Given the description of an element on the screen output the (x, y) to click on. 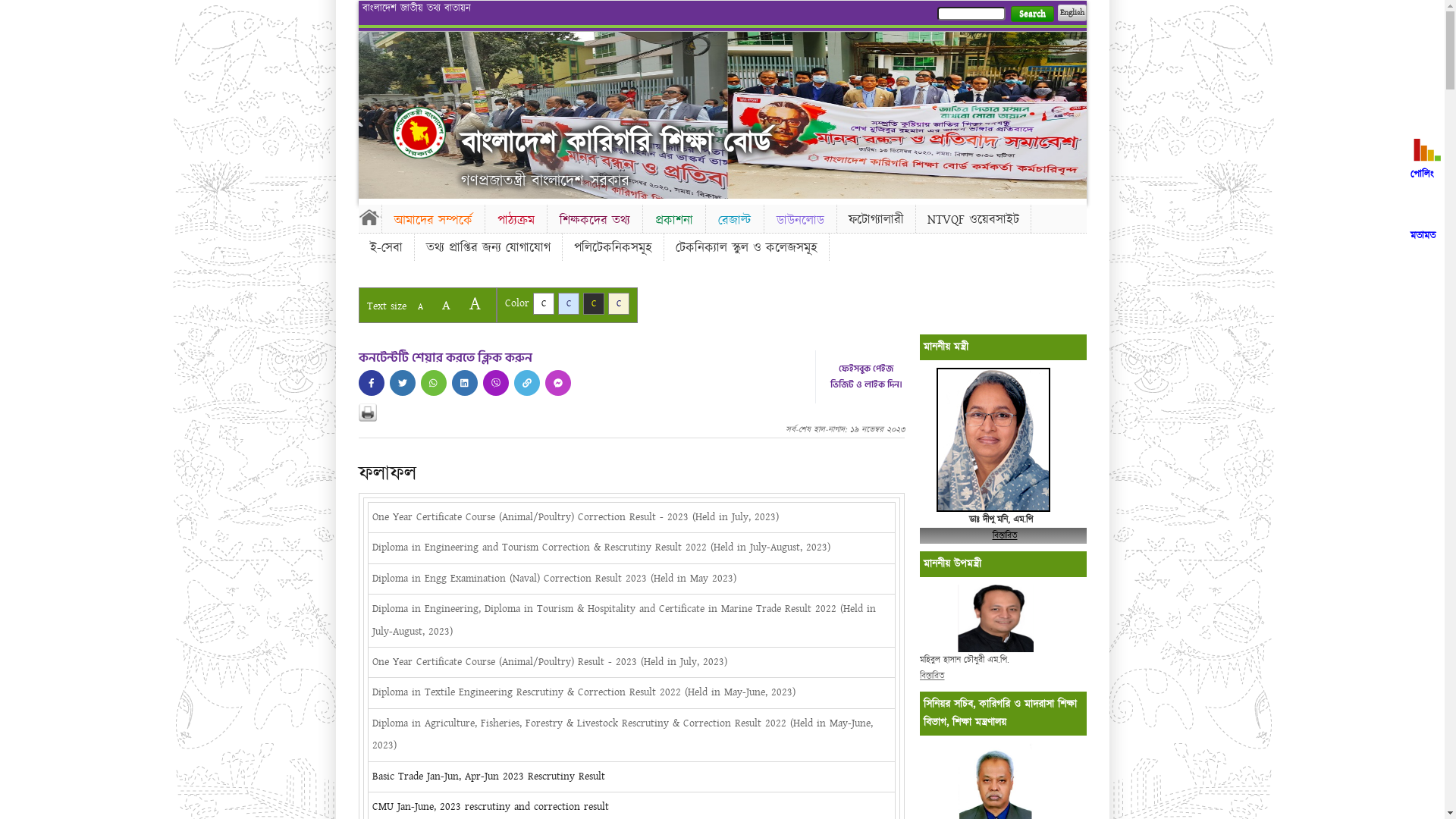
C Element type: text (542, 303)
A Element type: text (445, 305)
Search Element type: text (1031, 13)
C Element type: text (618, 303)
A Element type: text (474, 303)
C Element type: text (568, 303)
English Element type: text (1071, 12)
Home Element type: hover (368, 216)
Basic Trade Jan-Jun, Apr-Jun 2023 Rescrutiny Result Element type: text (487, 776)
Home Element type: hover (418, 132)
A Element type: text (419, 306)
CMU Jan-June, 2023 rescrutiny and correction result Element type: text (489, 806)
C Element type: text (592, 303)
